Given the description of an element on the screen output the (x, y) to click on. 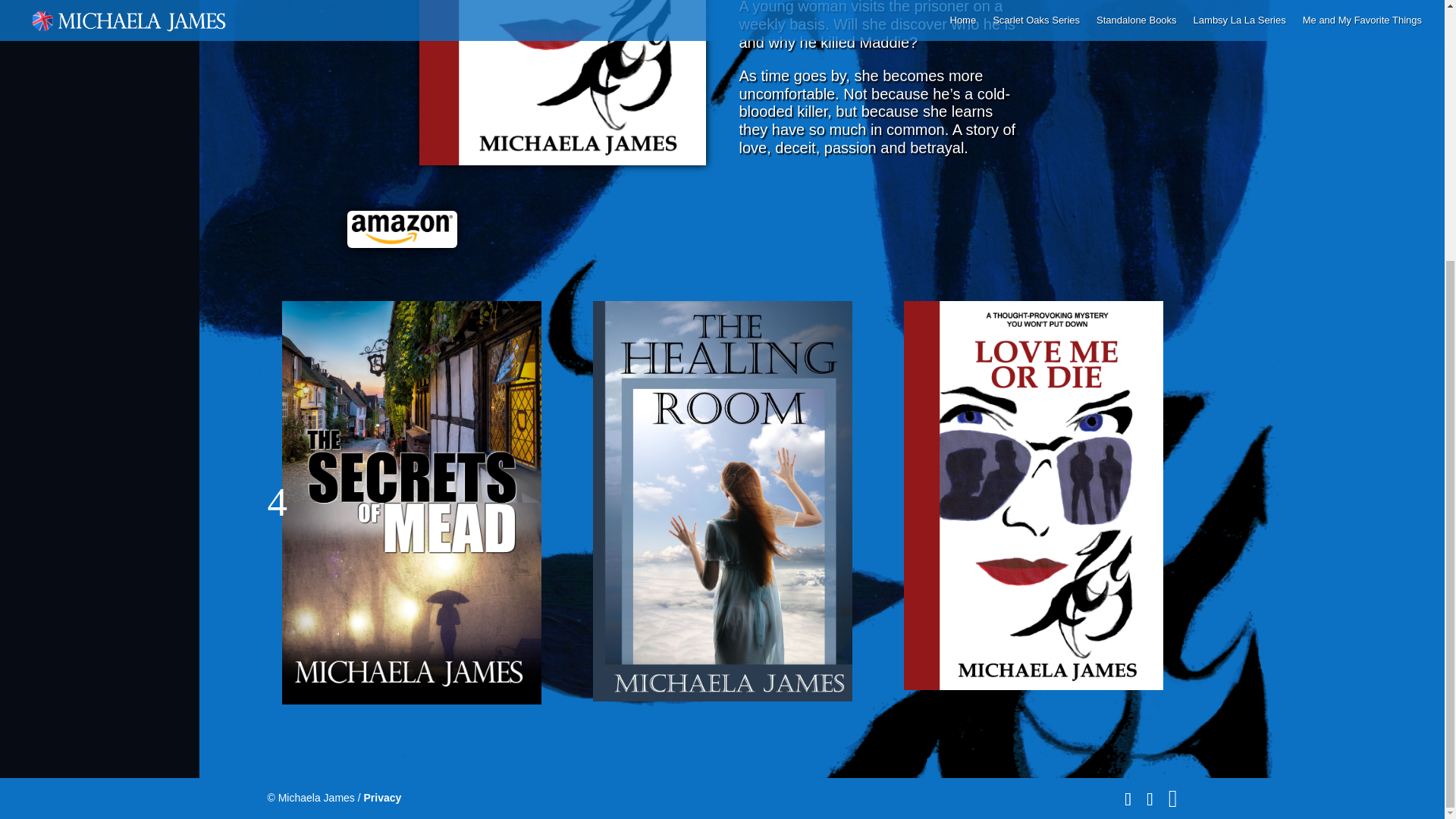
Click Here...... (402, 229)
Privacy (382, 423)
